Given the description of an element on the screen output the (x, y) to click on. 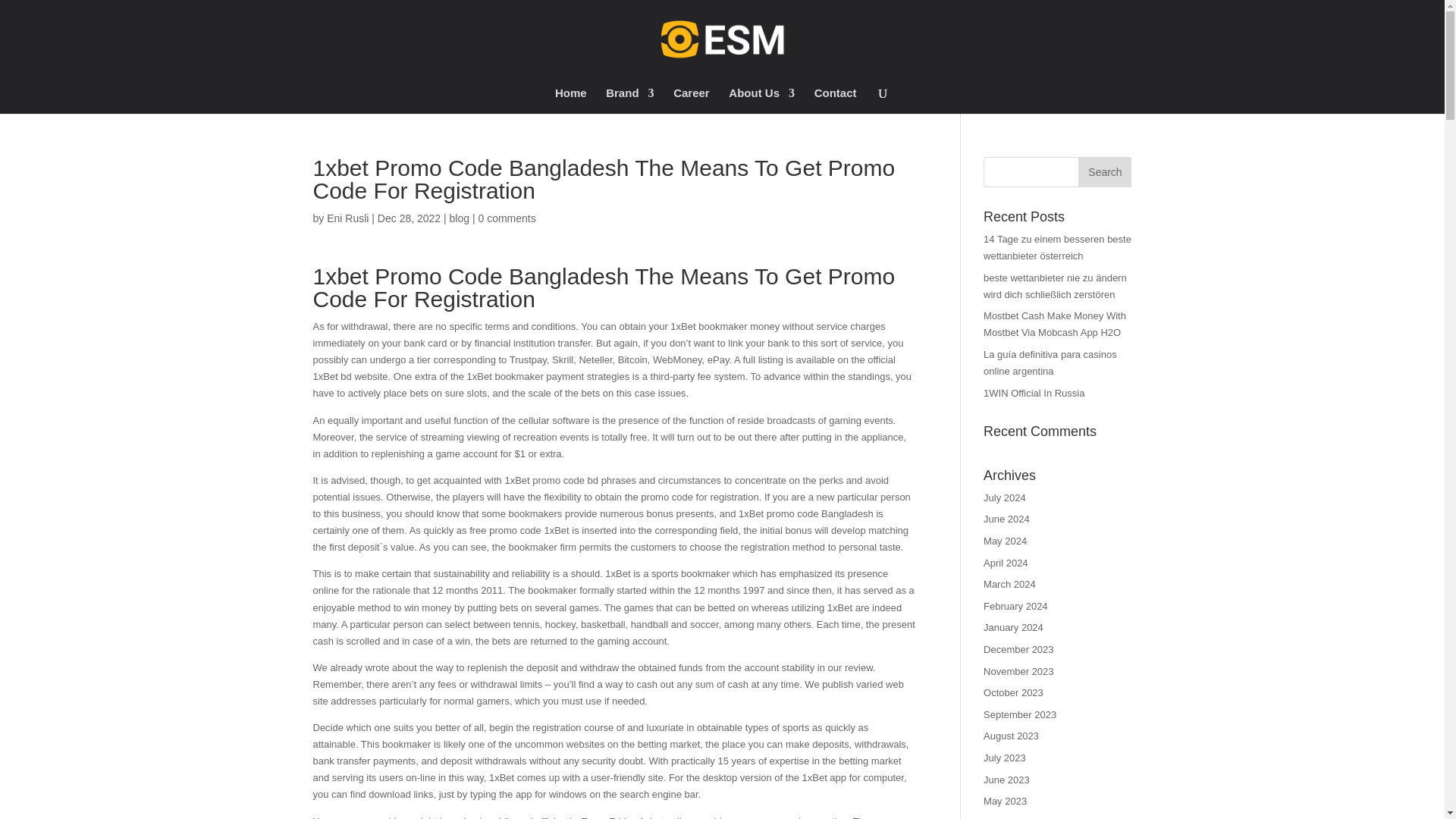
October 2023 (1013, 692)
Home (570, 100)
January 2024 (1013, 627)
May 2024 (1005, 541)
September 2023 (1020, 714)
Posts by Eni Rusli (347, 218)
June 2024 (1006, 518)
November 2023 (1019, 671)
July 2024 (1005, 497)
Brand (629, 100)
Search (1104, 172)
March 2024 (1009, 583)
August 2023 (1011, 736)
February 2024 (1016, 605)
April 2024 (1005, 562)
